Given the description of an element on the screen output the (x, y) to click on. 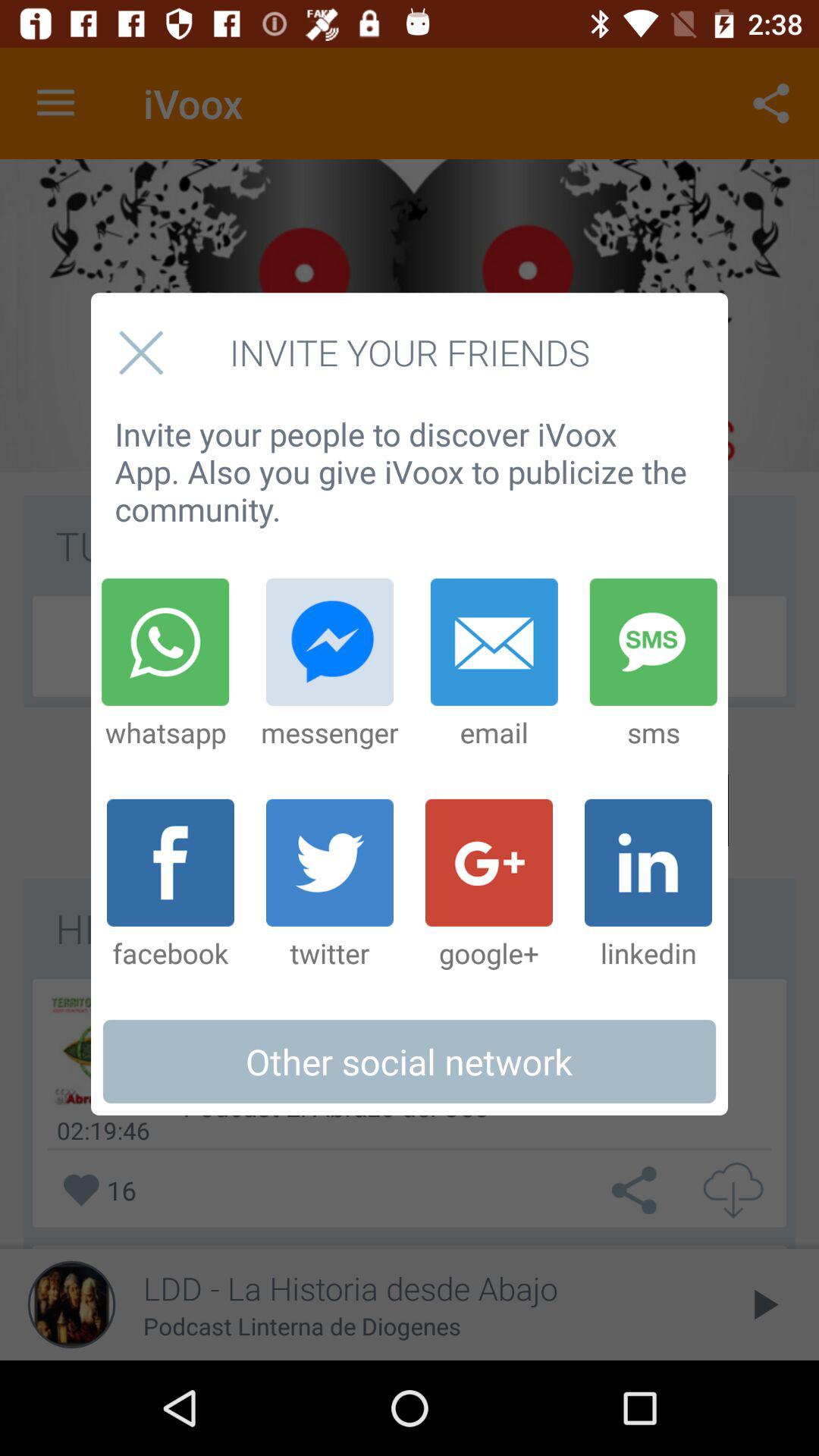
close pop up (141, 352)
